Given the description of an element on the screen output the (x, y) to click on. 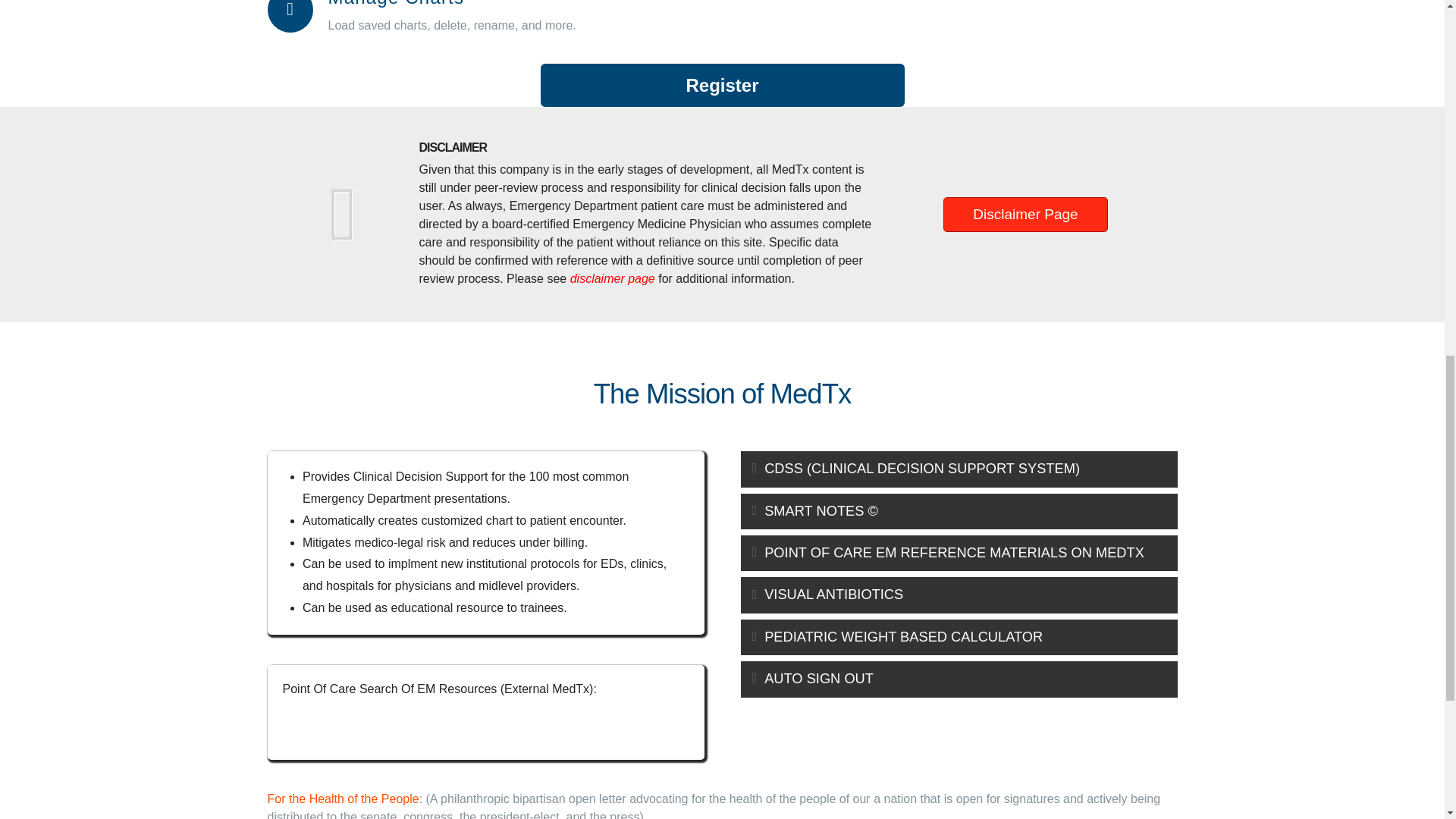
POINT OF CARE EM REFERENCE MATERIALS ON MEDTX (957, 552)
The Mission of MedTx (722, 393)
VISUAL ANTIBIOTICS (957, 594)
Register (722, 85)
Disclaimer Page (1024, 214)
